Given the description of an element on the screen output the (x, y) to click on. 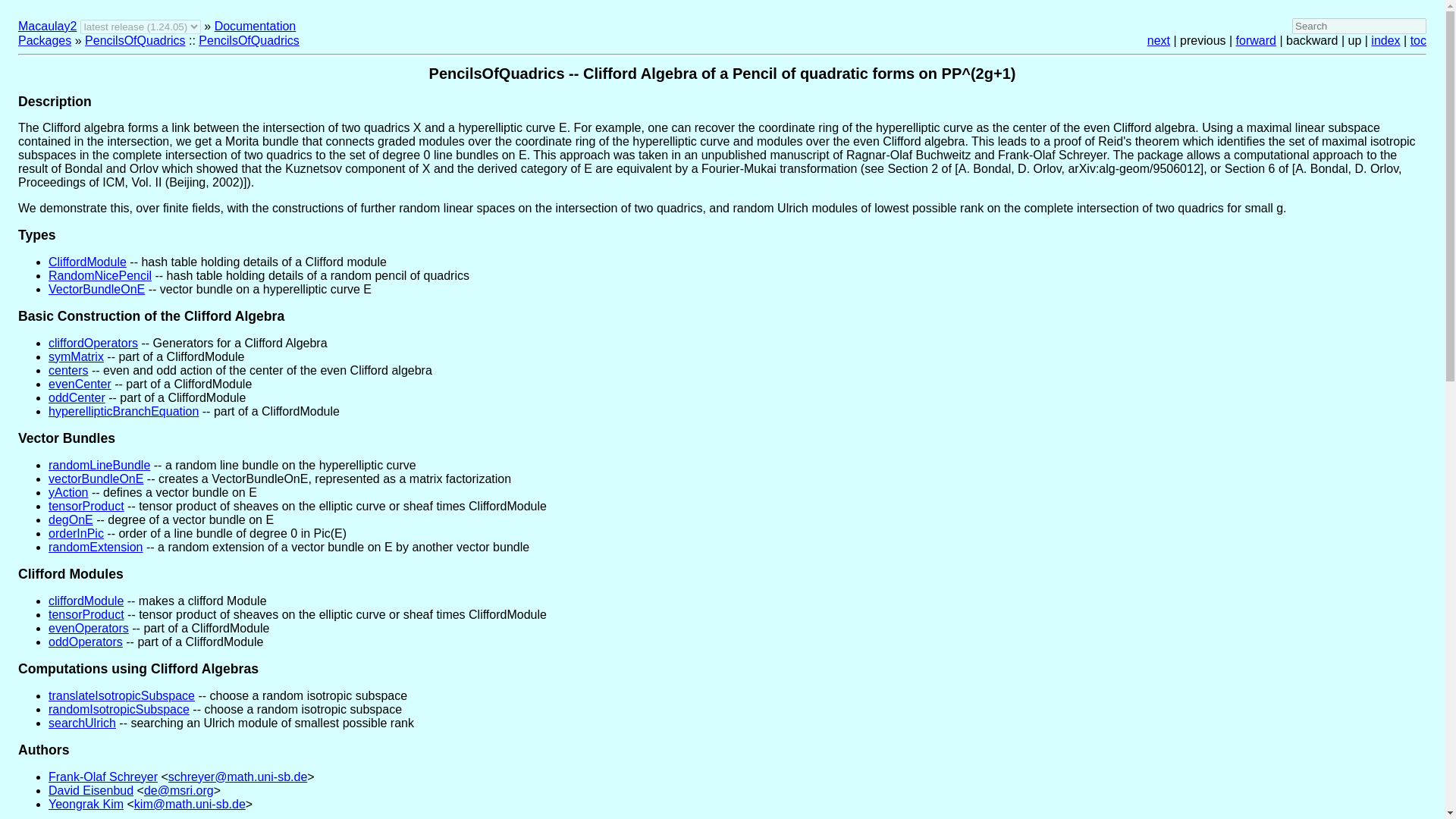
part of a CliffordModule (75, 356)
Macaulay2 (47, 25)
part of a CliffordModule (123, 410)
next (1158, 40)
Frank-Olaf Schreyer (102, 776)
randomExtension (95, 546)
CliffordModule (87, 261)
degree of a vector bundle on E (70, 519)
PencilsOfQuadrics (135, 40)
part of a CliffordModule (80, 383)
